Given the description of an element on the screen output the (x, y) to click on. 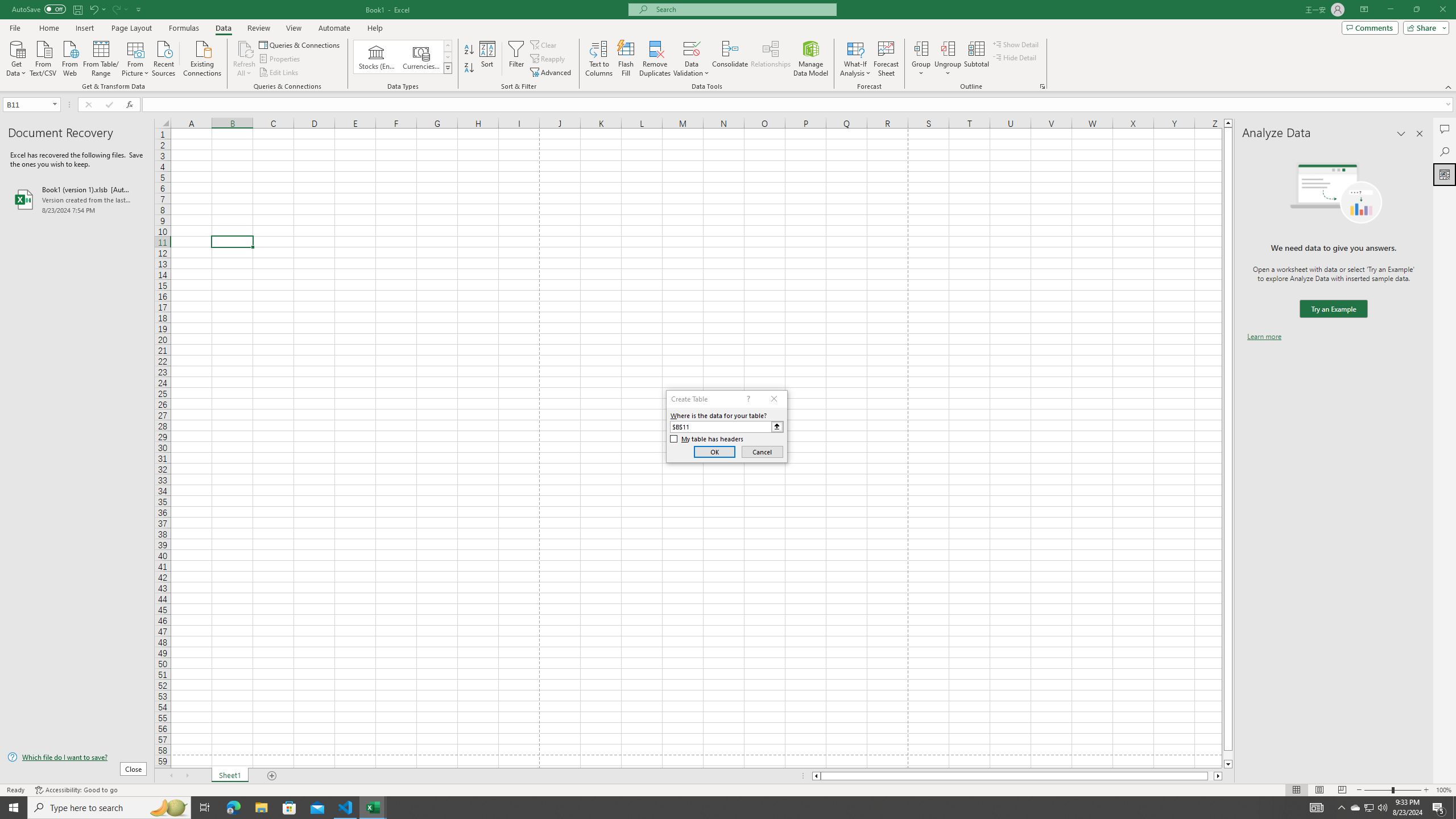
View (293, 28)
Data Types (448, 67)
Reapply (548, 58)
Class: MsoCommandBar (728, 45)
Class: NetUIImage (447, 68)
We need data to give you answers. Try an Example (1333, 308)
Manage Data Model (810, 58)
Get Data (16, 57)
Add Sheet (272, 775)
Page down (1228, 755)
Close (1442, 9)
Formulas (184, 28)
Page Break Preview (1342, 790)
